Given the description of an element on the screen output the (x, y) to click on. 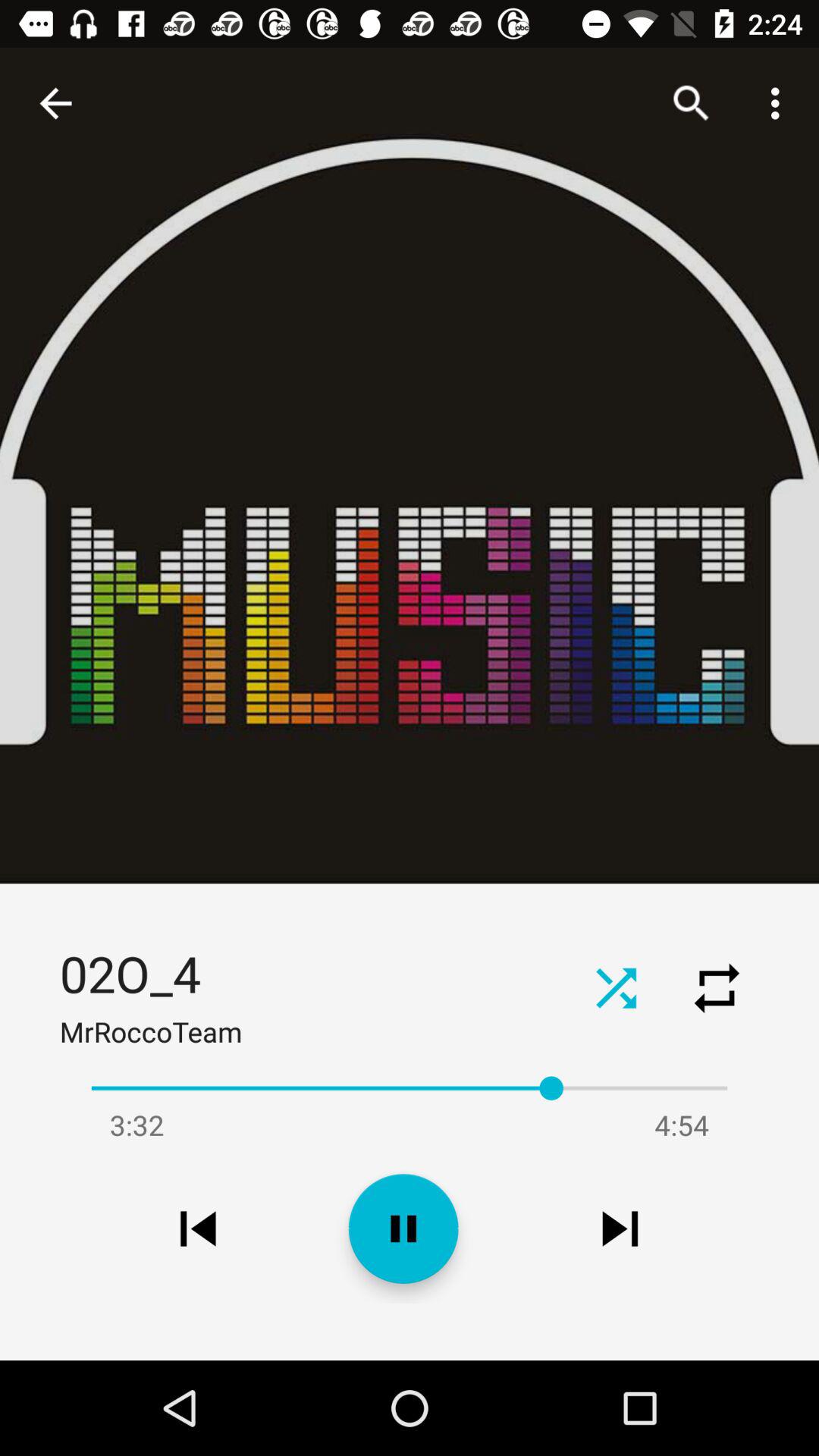
turn off the item below the 4:54 icon (619, 1228)
